Given the description of an element on the screen output the (x, y) to click on. 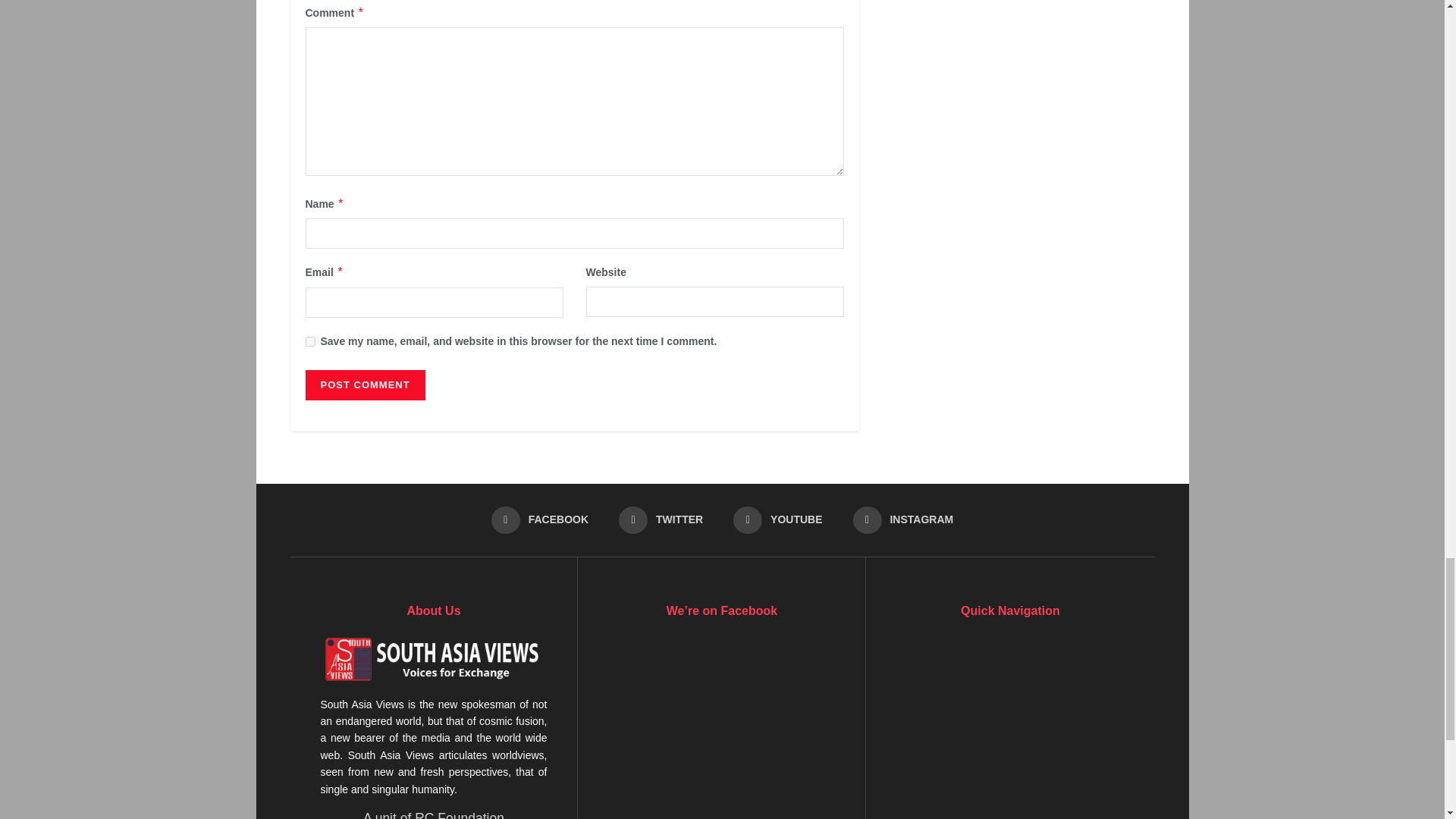
Post Comment (364, 385)
yes (309, 341)
